Given the description of an element on the screen output the (x, y) to click on. 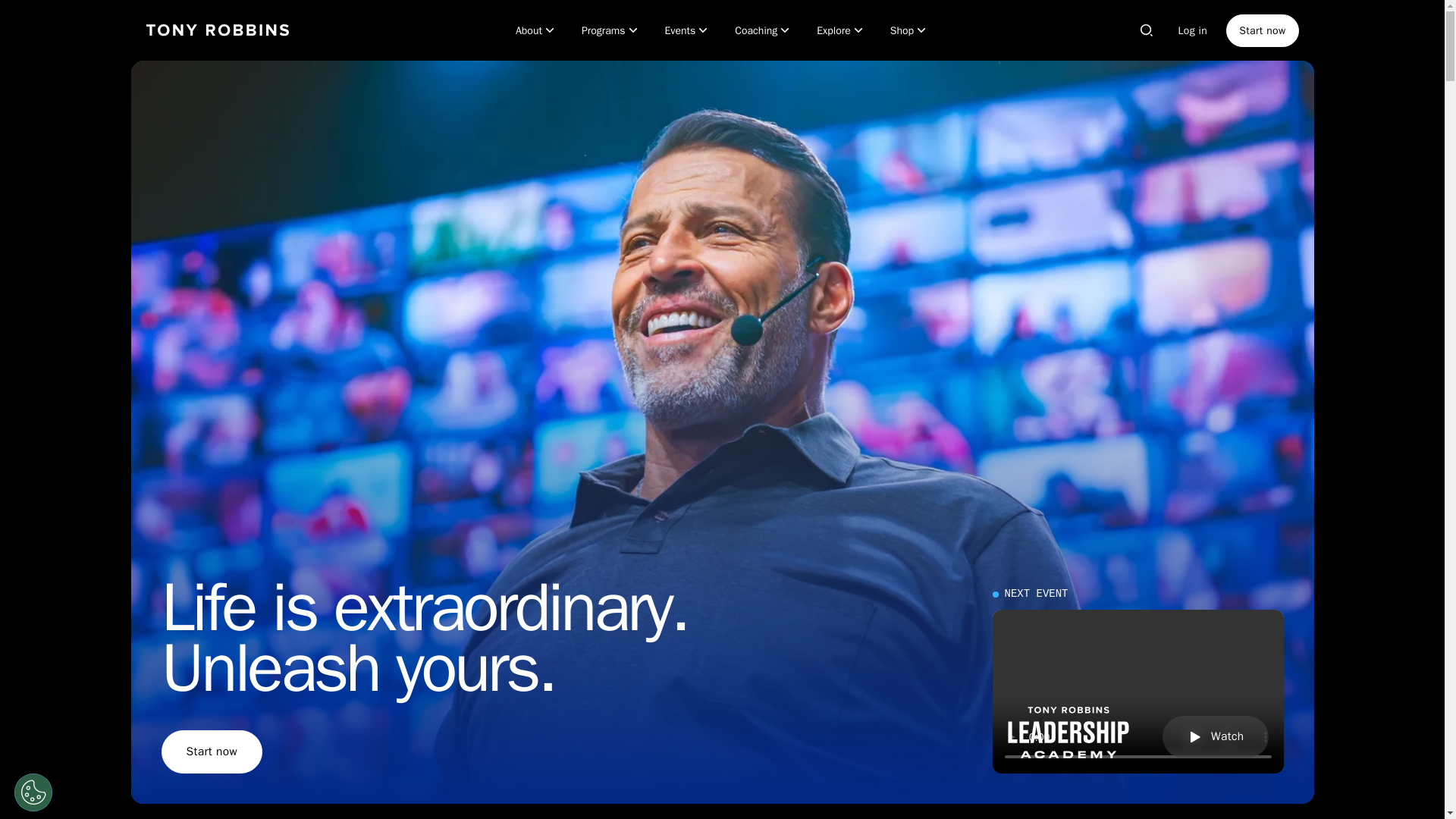
Events (688, 30)
Shop (908, 30)
Programs (610, 30)
Coaching (763, 30)
About (536, 30)
Explore (841, 30)
